Given the description of an element on the screen output the (x, y) to click on. 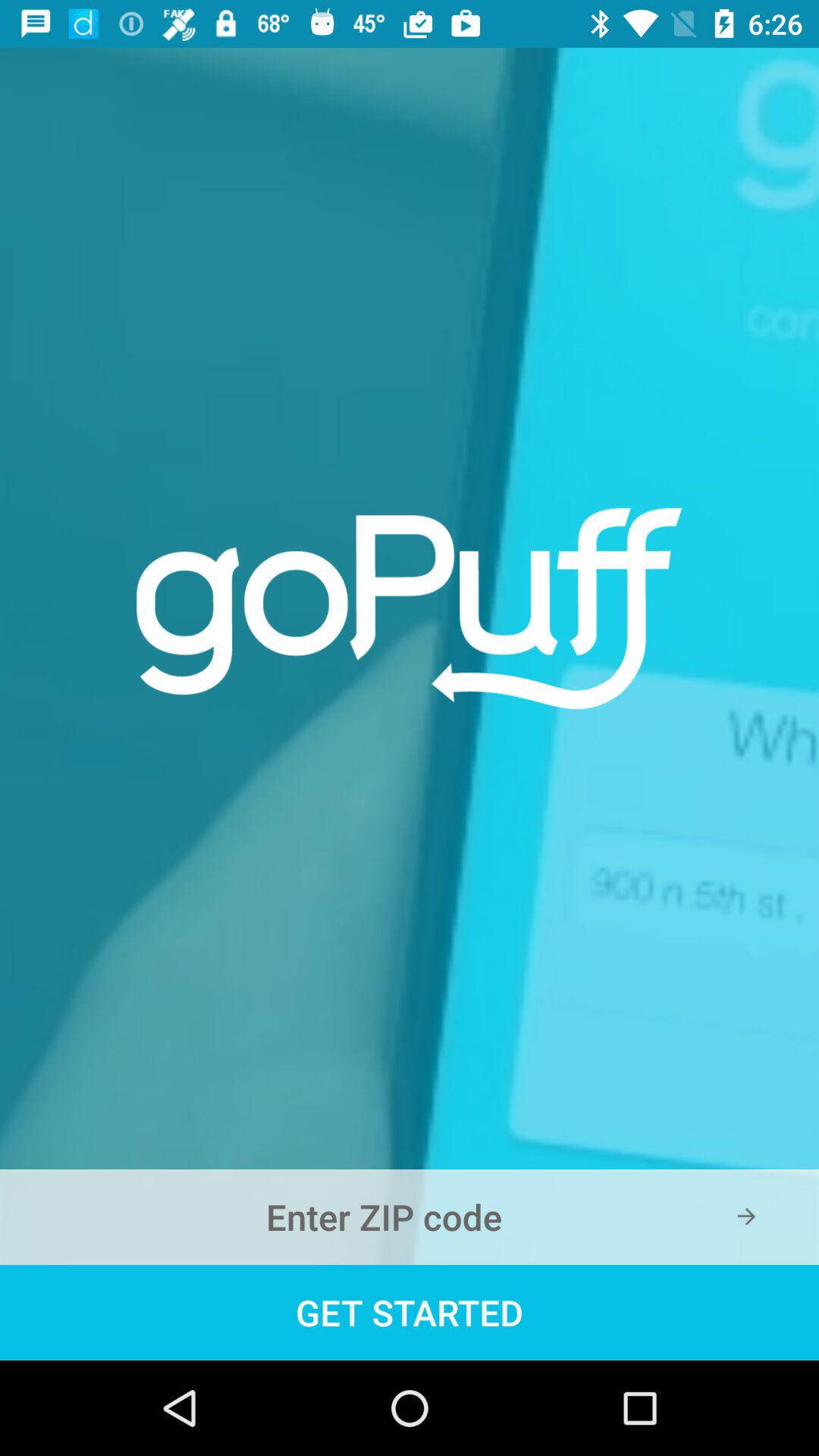
tracking code (409, 1216)
